Given the description of an element on the screen output the (x, y) to click on. 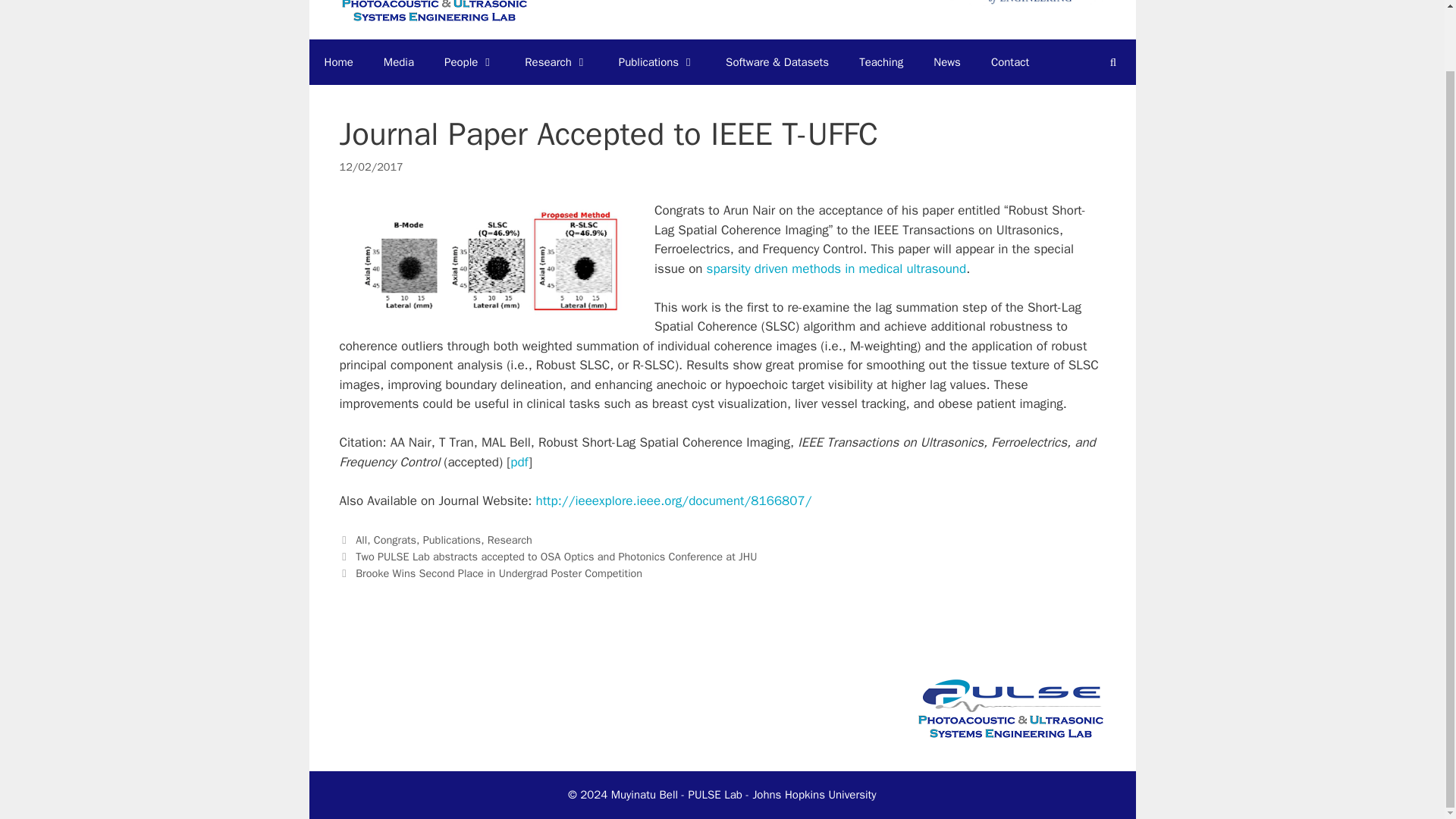
Publications (657, 62)
Media (398, 62)
Brooke Wins Second Place in Undergrad Poster Competition (498, 572)
Research (555, 62)
sparsity driven methods in medical ultrasound (836, 268)
Research (509, 540)
Contact (1009, 62)
Teaching (881, 62)
pdf (519, 462)
Congrats (395, 540)
